Given the description of an element on the screen output the (x, y) to click on. 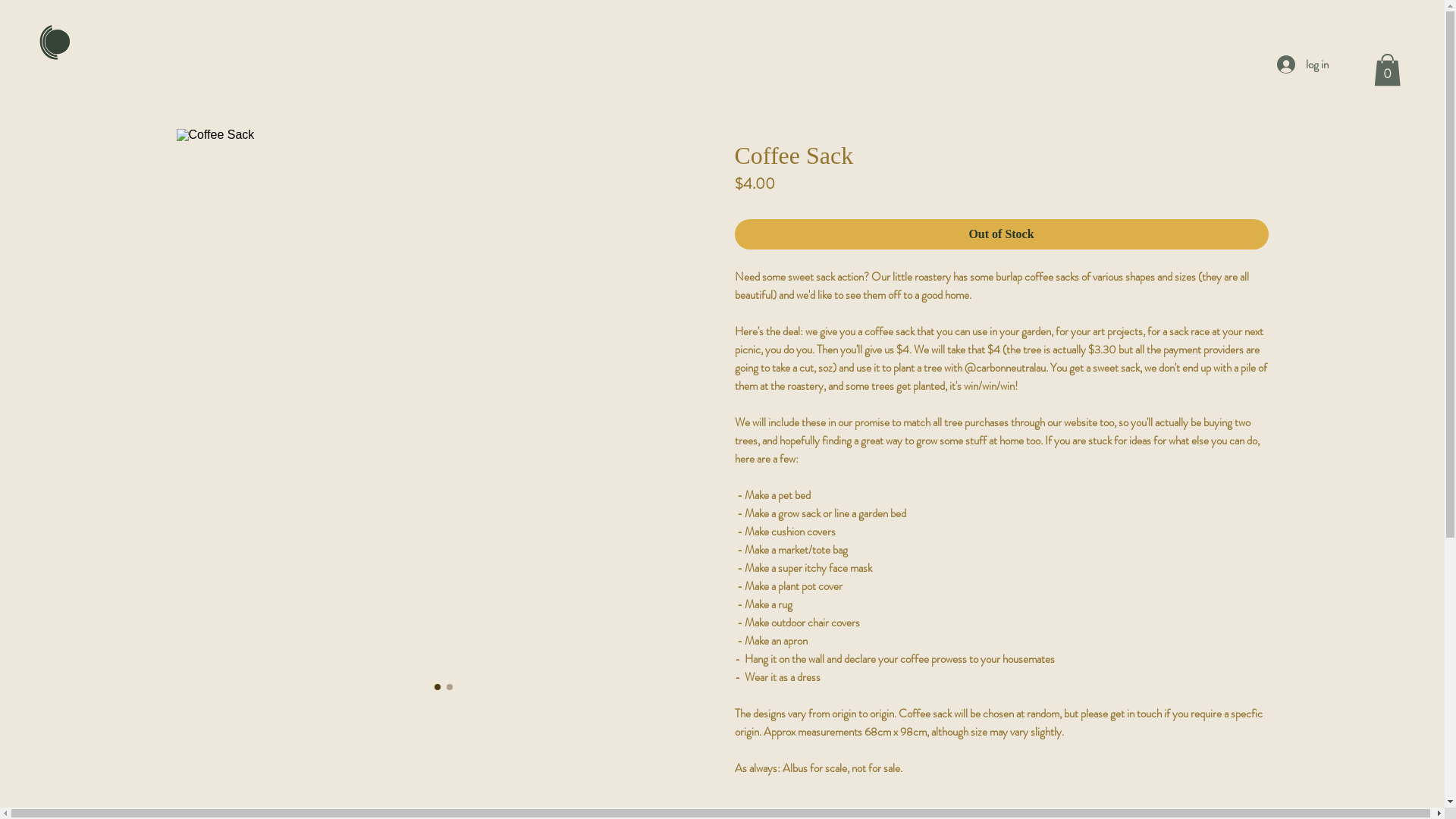
log in Element type: text (1302, 64)
0 Element type: text (1387, 69)
Out of Stock Element type: text (1000, 234)
